Given the description of an element on the screen output the (x, y) to click on. 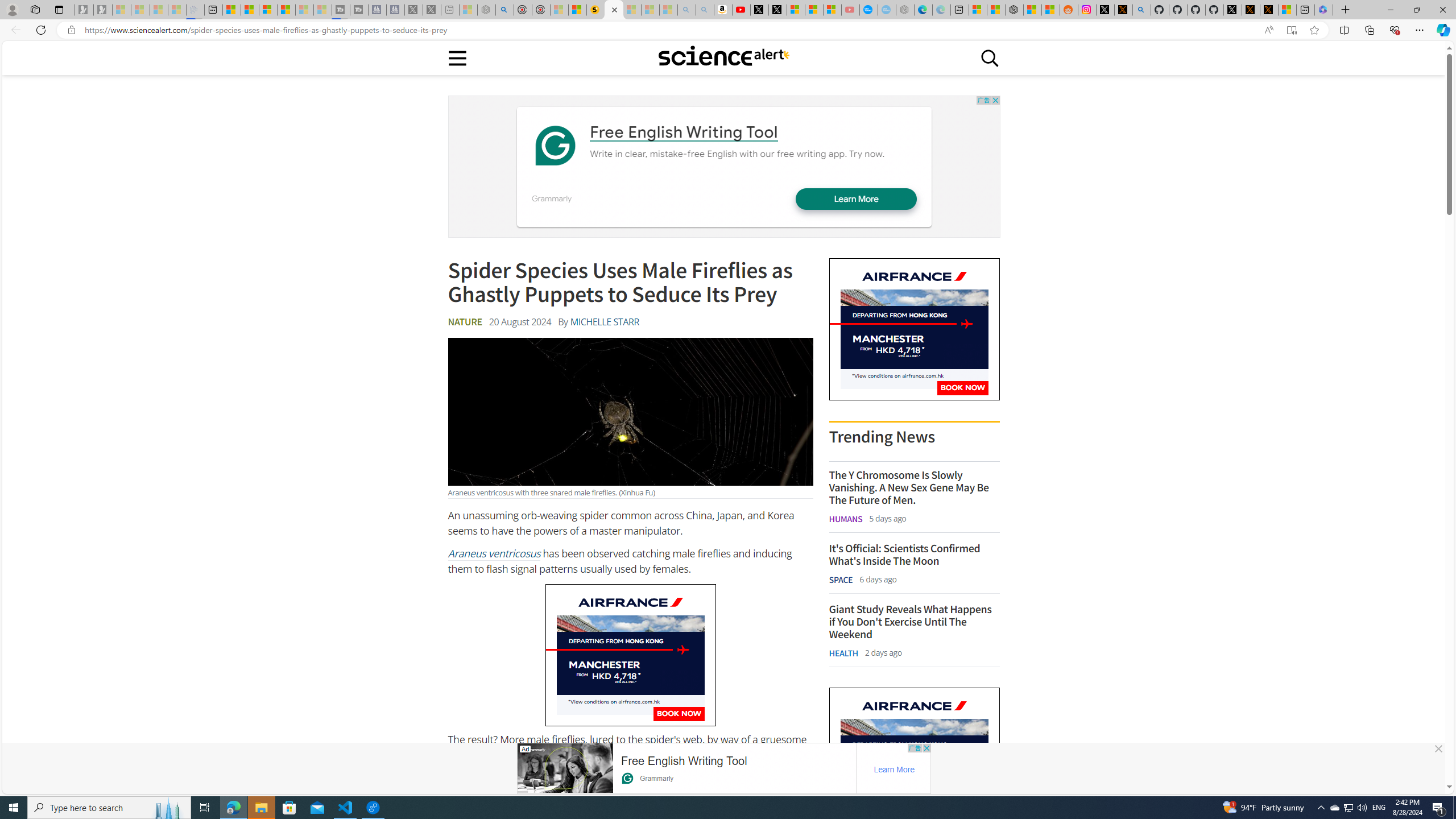
Nordace - Nordace has arrived Hong Kong - Sleeping (904, 9)
